Given the description of an element on the screen output the (x, y) to click on. 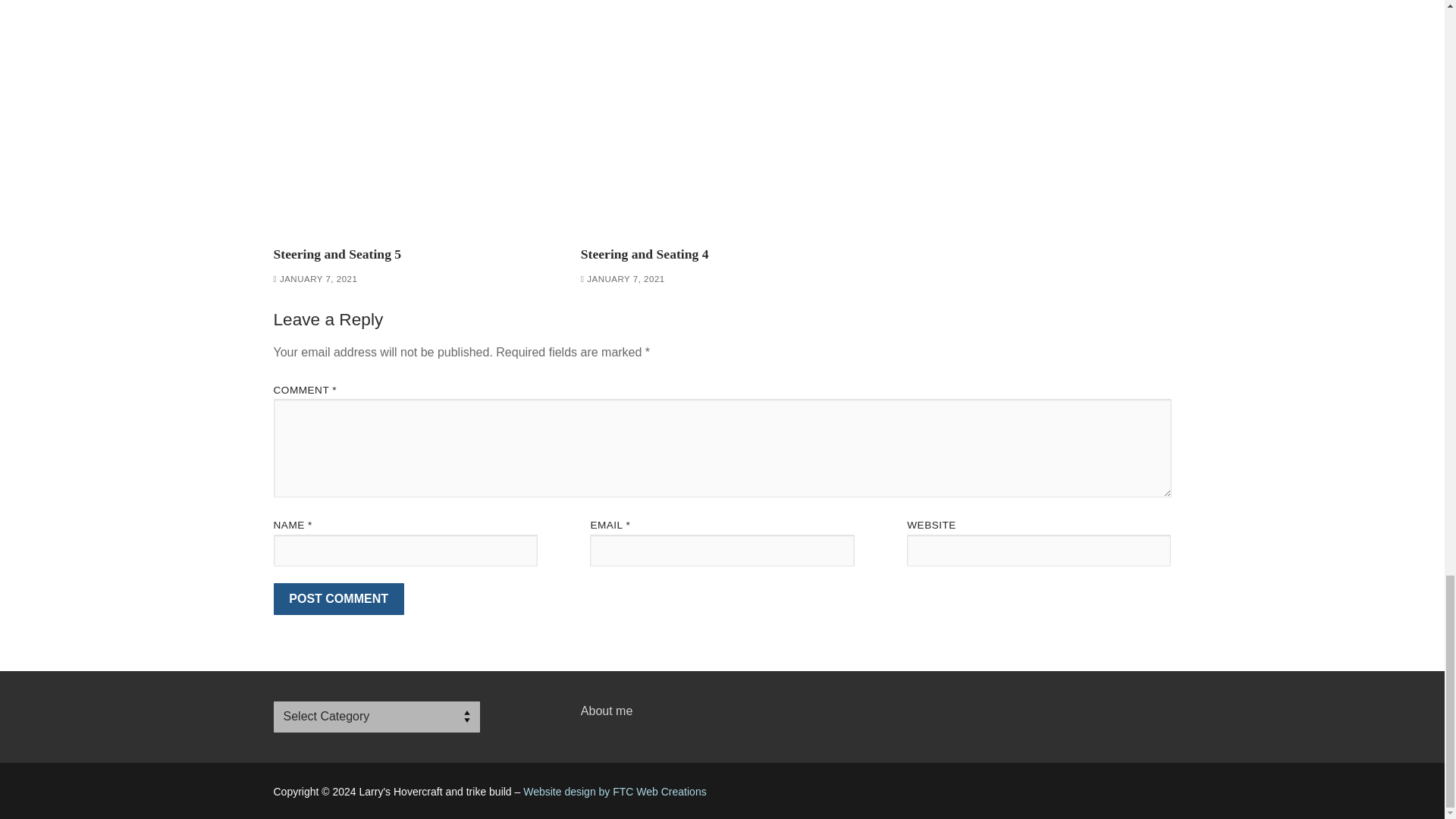
Post Comment (338, 599)
Steering and Seating 5 (337, 253)
Steering and Seating 4 (644, 253)
Steering and Seating 5 (414, 119)
Steering and Seating 4 (721, 119)
